Given the description of an element on the screen output the (x, y) to click on. 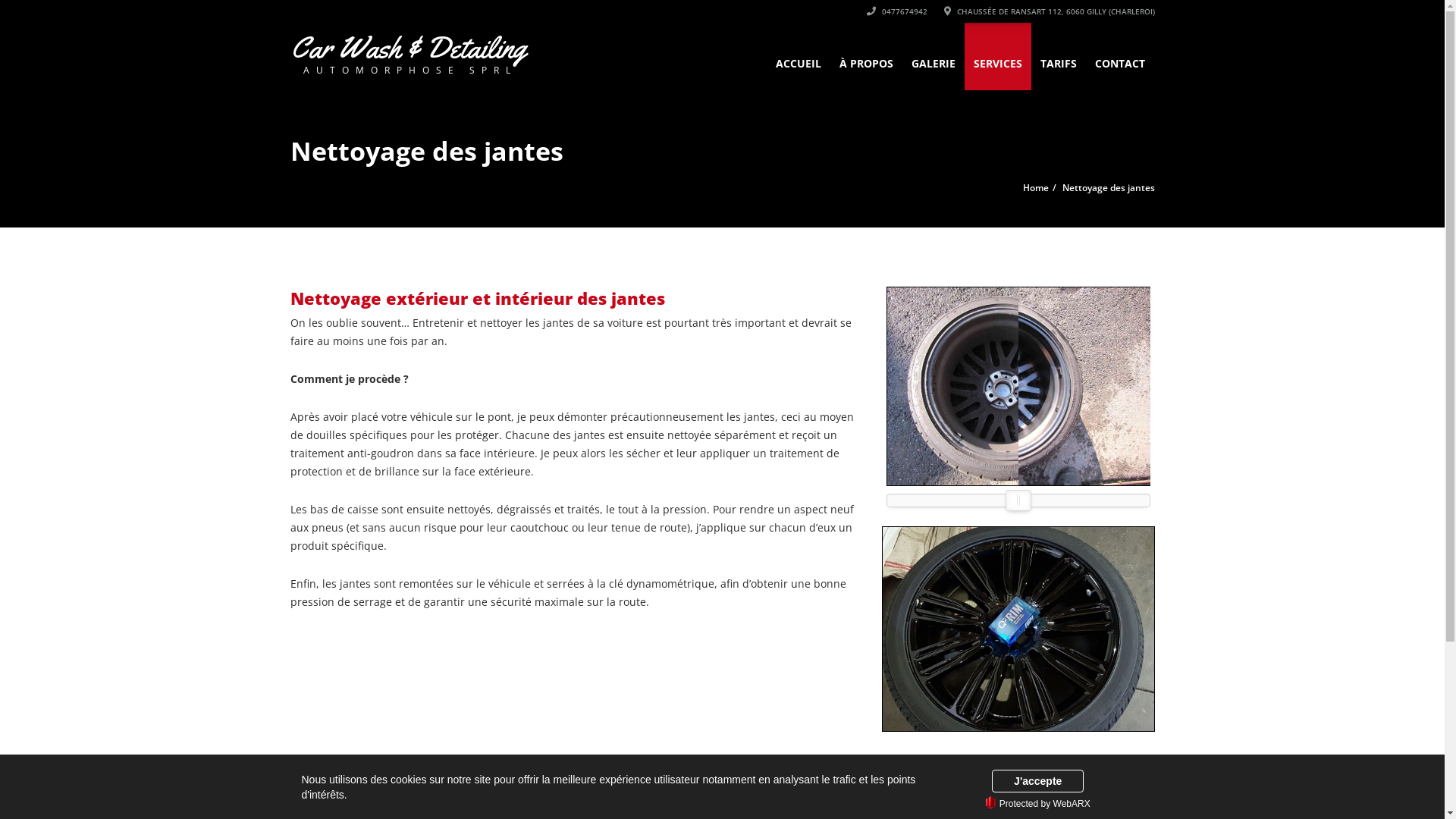
0477674942 Element type: text (896, 11)
GALERIE Element type: text (933, 56)
Car Wash & Detailing
AUTOMORPHOSE SPRL Element type: text (410, 53)
SERVICES Element type: text (997, 56)
ACCUEIL Element type: text (797, 56)
Protected by WebARX Element type: text (1037, 803)
CONTACT Element type: text (1119, 56)
Nettoyage des jantes Element type: text (1107, 187)
Home Element type: text (1035, 187)
J'accepte Element type: text (1037, 780)
TARIFS Element type: text (1058, 56)
